Given the description of an element on the screen output the (x, y) to click on. 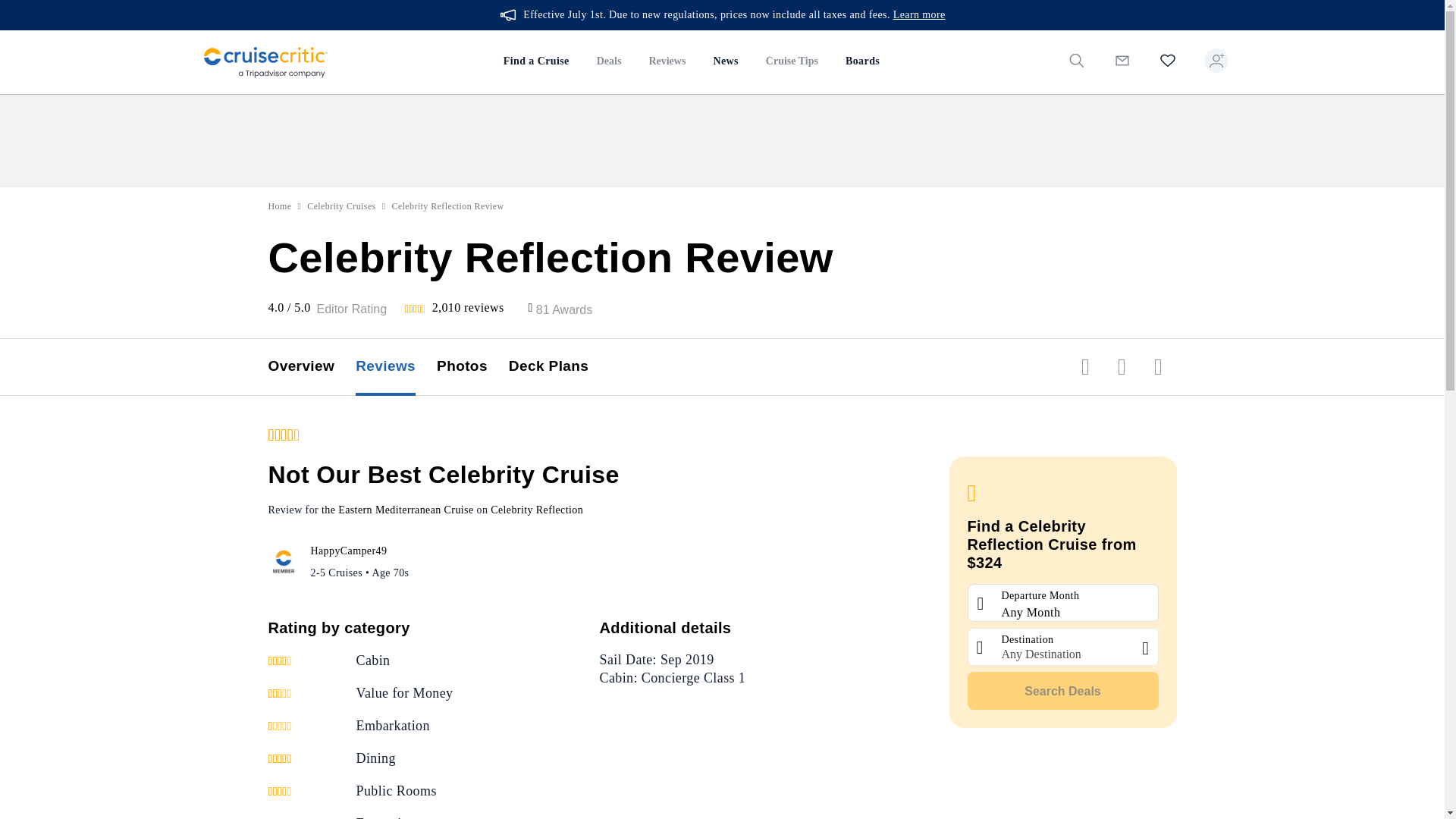
2,010 reviews (467, 307)
Celebrity Reflection (536, 509)
Learn more (918, 15)
Reviews (395, 366)
Cruise Tips (791, 62)
Boards (861, 62)
Celebrity Cruises (341, 205)
81 Awards (563, 309)
Search Deals (1063, 690)
Editor Rating (352, 309)
the Eastern Mediterranean Cruise (397, 509)
Reviews (666, 62)
Overview (311, 366)
Photos (472, 366)
Home (279, 205)
